Given the description of an element on the screen output the (x, y) to click on. 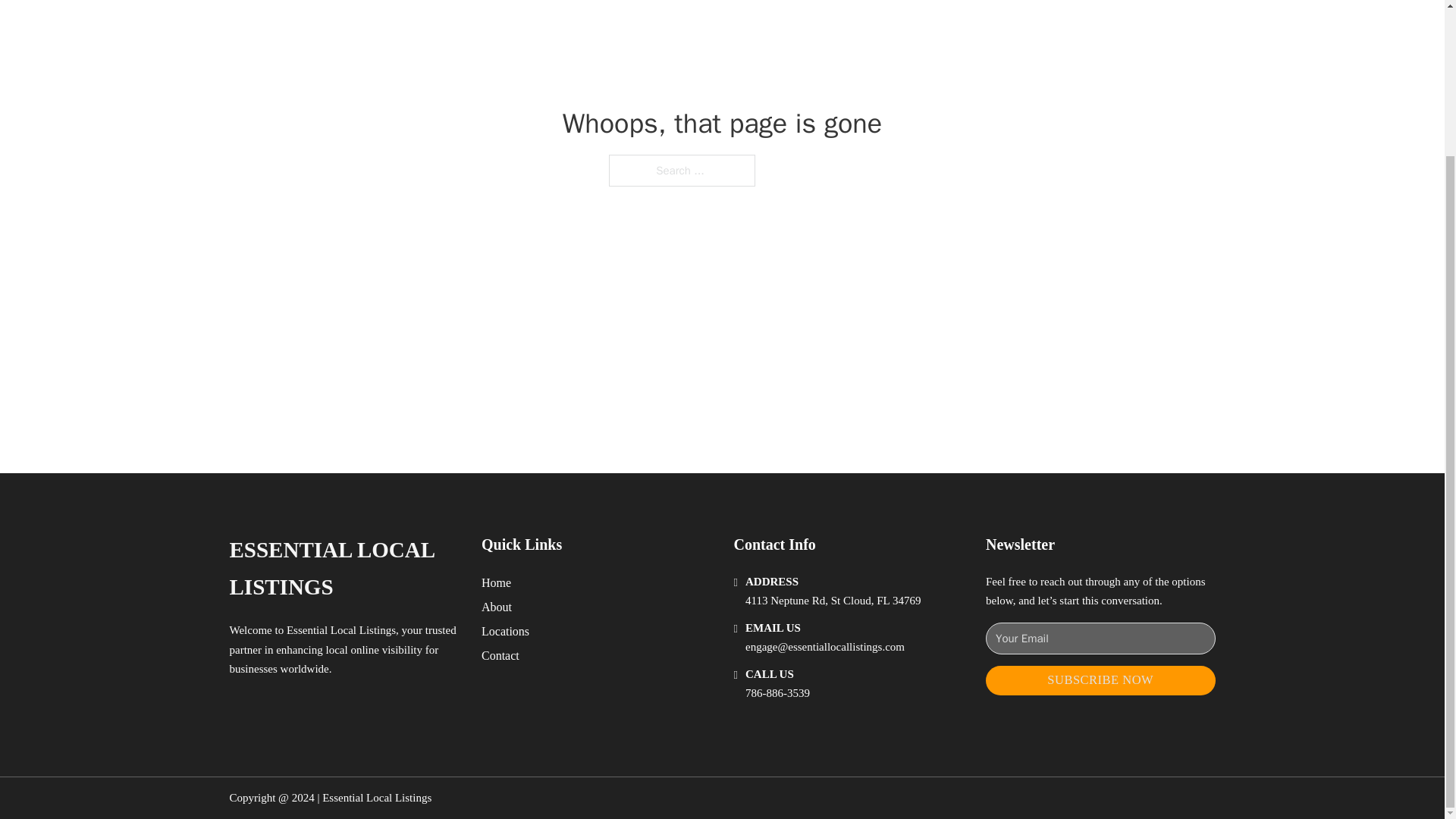
Contact (500, 655)
Locations (505, 630)
SUBSCRIBE NOW (1100, 680)
Home (496, 582)
786-886-3539 (777, 693)
About (496, 607)
ESSENTIAL LOCAL LISTINGS (343, 568)
